Given the description of an element on the screen output the (x, y) to click on. 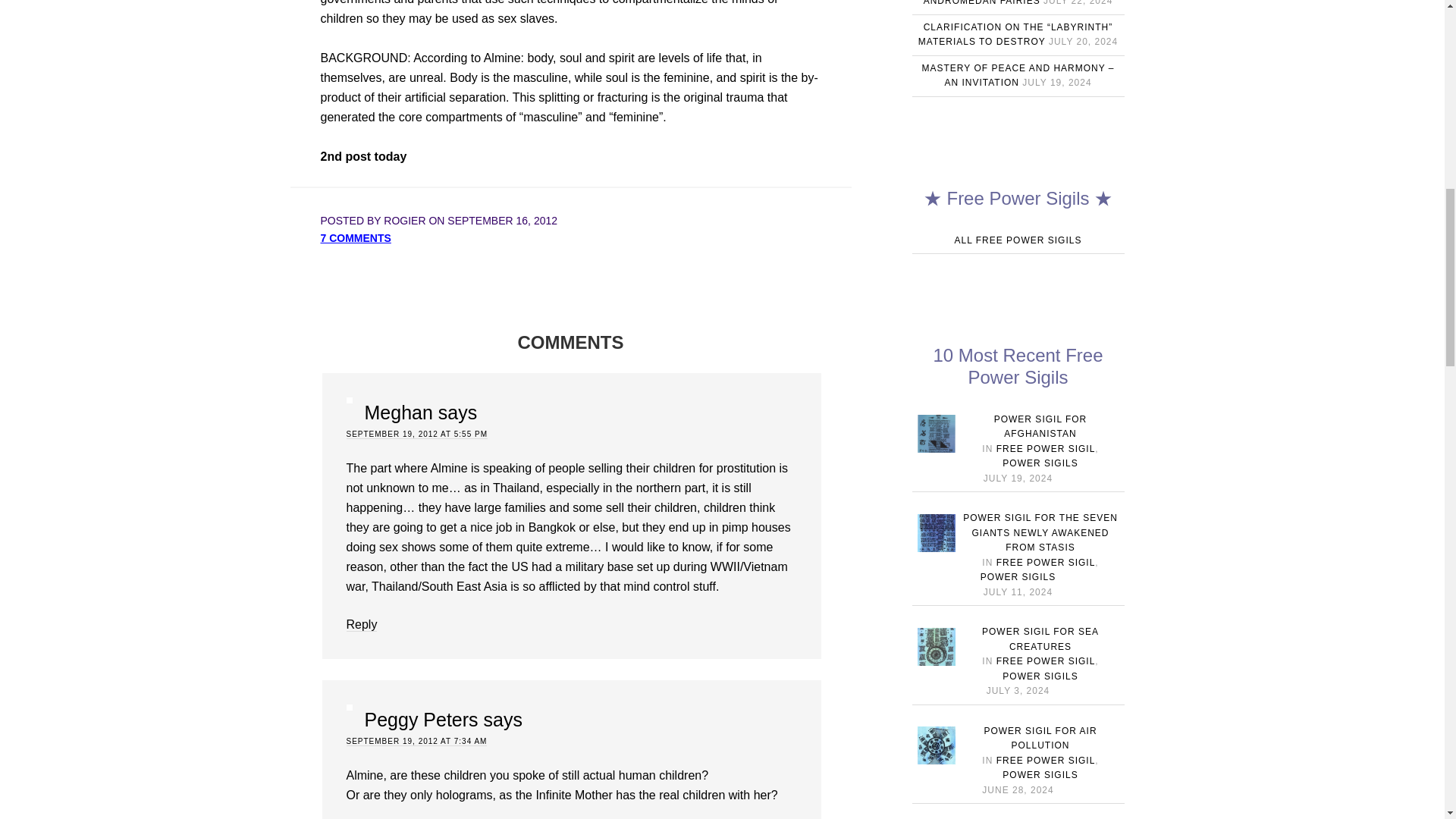
POWER SIGIL FOR THE SEVEN GIANTS NEWLY AWAKENED FROM STASIS (1040, 532)
FREE POWER SIGIL (1045, 448)
ALL FREE POWER SIGILS (1018, 240)
FREE POWER SIGIL (1045, 562)
7 COMMENTS (355, 237)
SEPTEMBER 19, 2012 AT 5:55 PM (416, 433)
ANDROMEDAN FAIRIES (982, 2)
SEPTEMBER 19, 2012 AT 7:34 AM (416, 741)
POWER SIGIL FOR AFGHANISTAN (1040, 426)
POWER SIGILS (1040, 462)
Reply (361, 624)
